Given the description of an element on the screen output the (x, y) to click on. 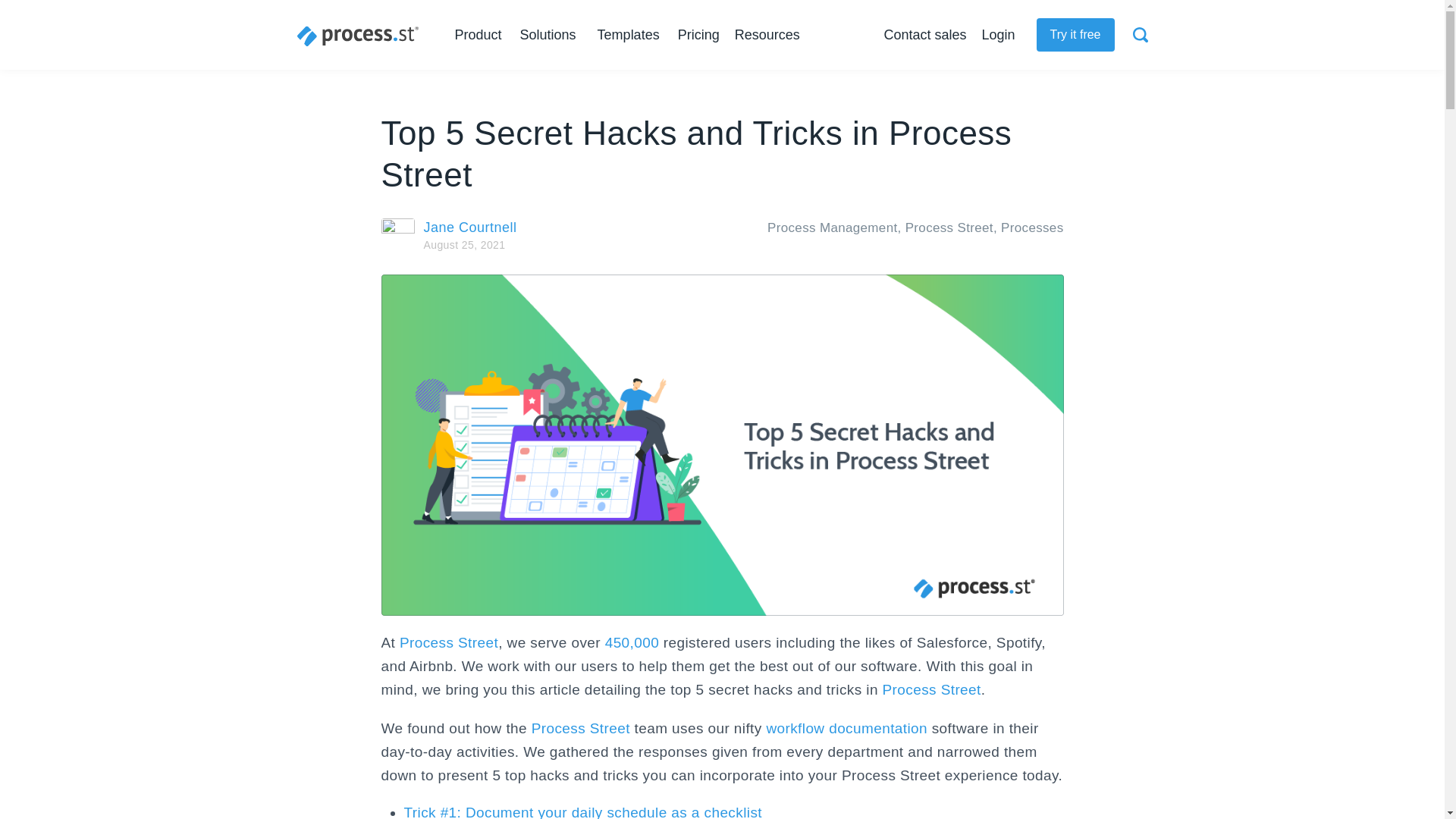
Contact sales (924, 34)
Try it free (1075, 34)
Resources (770, 34)
Solutions (550, 34)
Process Street (358, 35)
Templates (627, 34)
Pricing (698, 34)
Login (997, 34)
Product (481, 34)
